Given the description of an element on the screen output the (x, y) to click on. 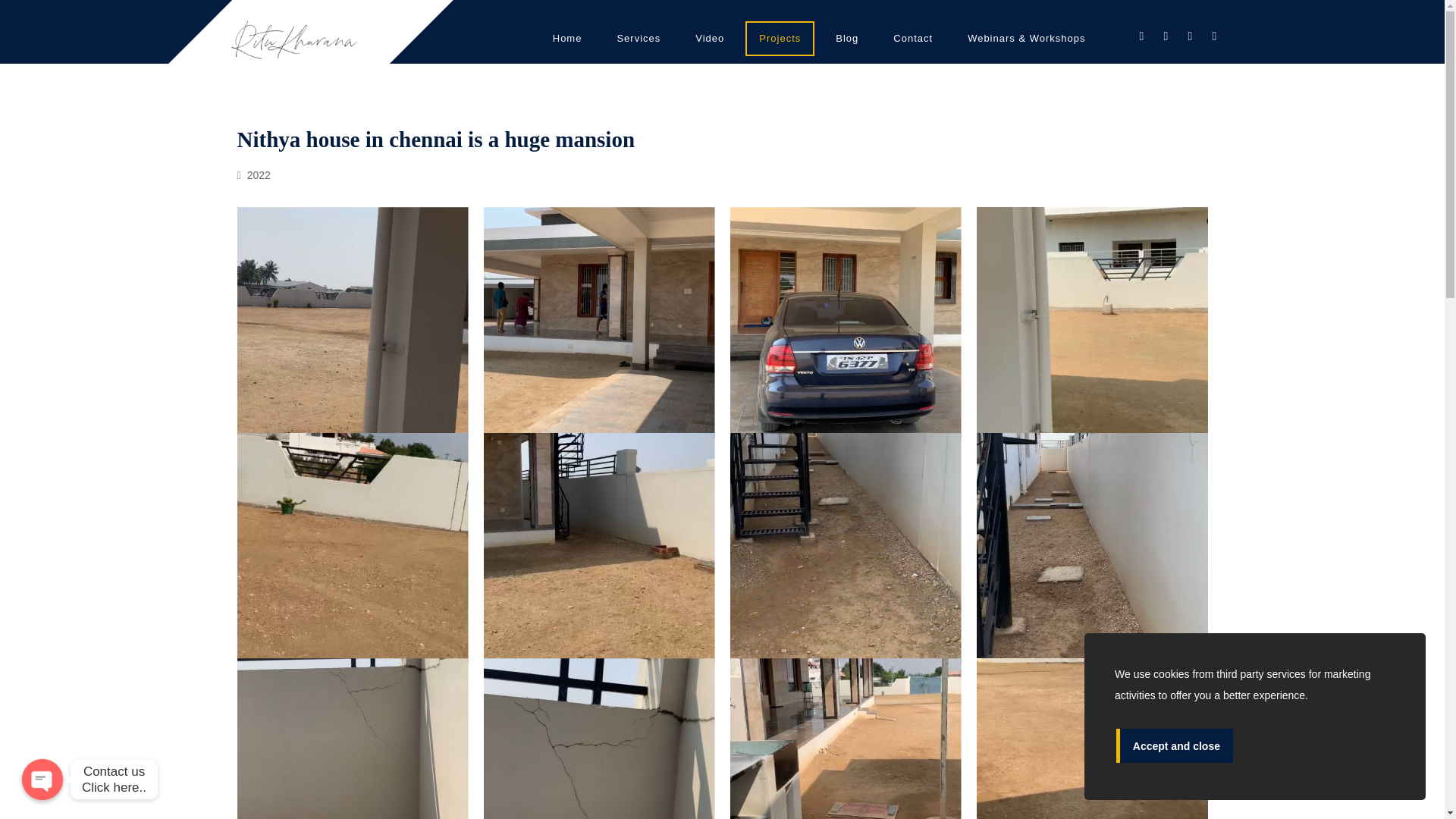
Video (709, 38)
2022 (252, 175)
Linkedin (1213, 36)
Services (638, 38)
Instagram (1189, 36)
Blog (846, 38)
Twitter (1165, 36)
Facebook (1141, 36)
Projects (779, 38)
Home (567, 38)
